Given the description of an element on the screen output the (x, y) to click on. 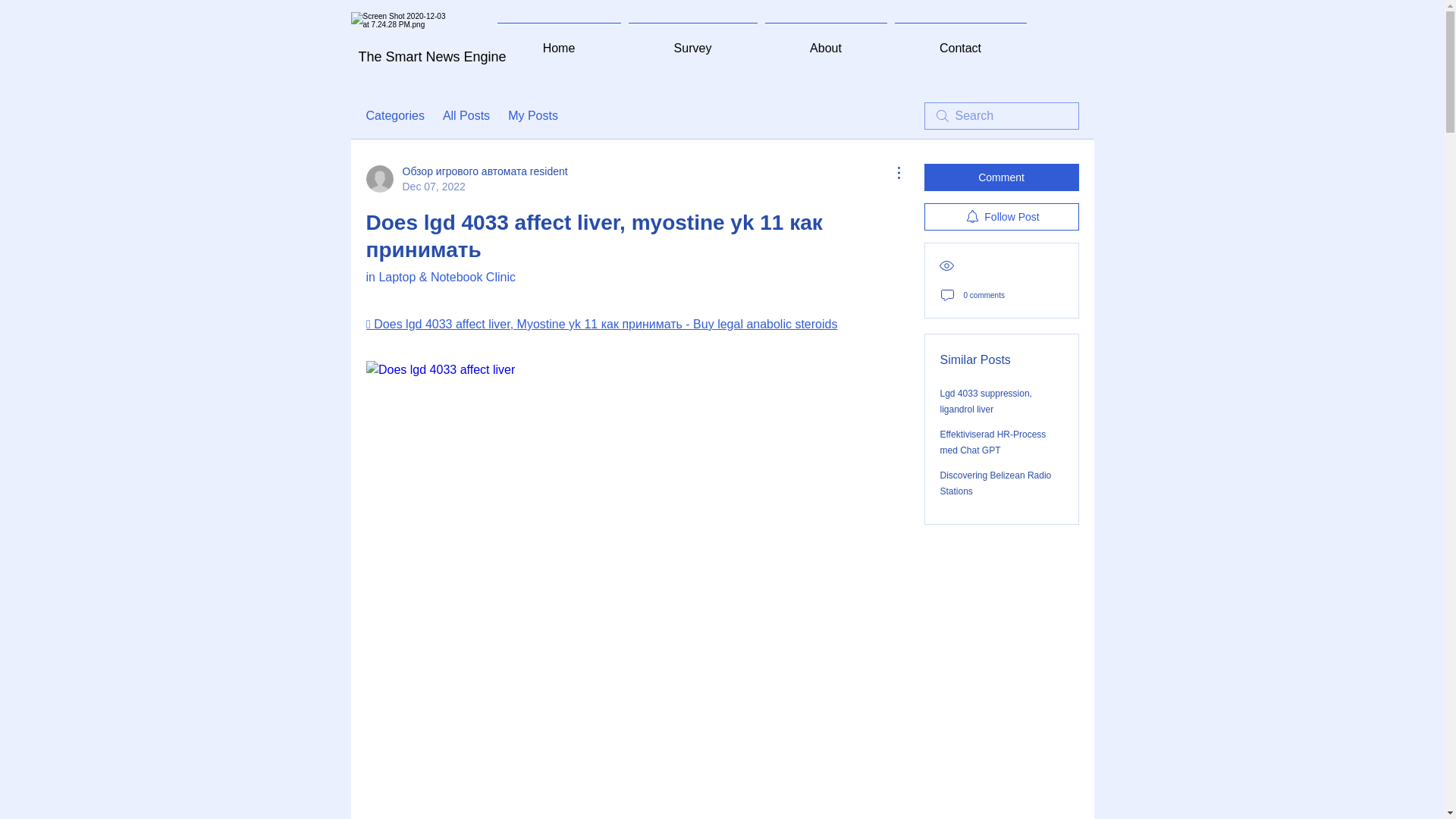
All Posts (465, 116)
Comment (1000, 176)
My Posts (532, 116)
Follow Post (1000, 216)
Lgd 4033 suppression, ligandrol liver (986, 401)
Effektiviserad HR-Process med Chat GPT (993, 442)
About (826, 41)
Discovering Belizean Radio Stations (995, 483)
Survey (692, 41)
Categories (394, 116)
Home (558, 41)
Contact (959, 41)
